Given the description of an element on the screen output the (x, y) to click on. 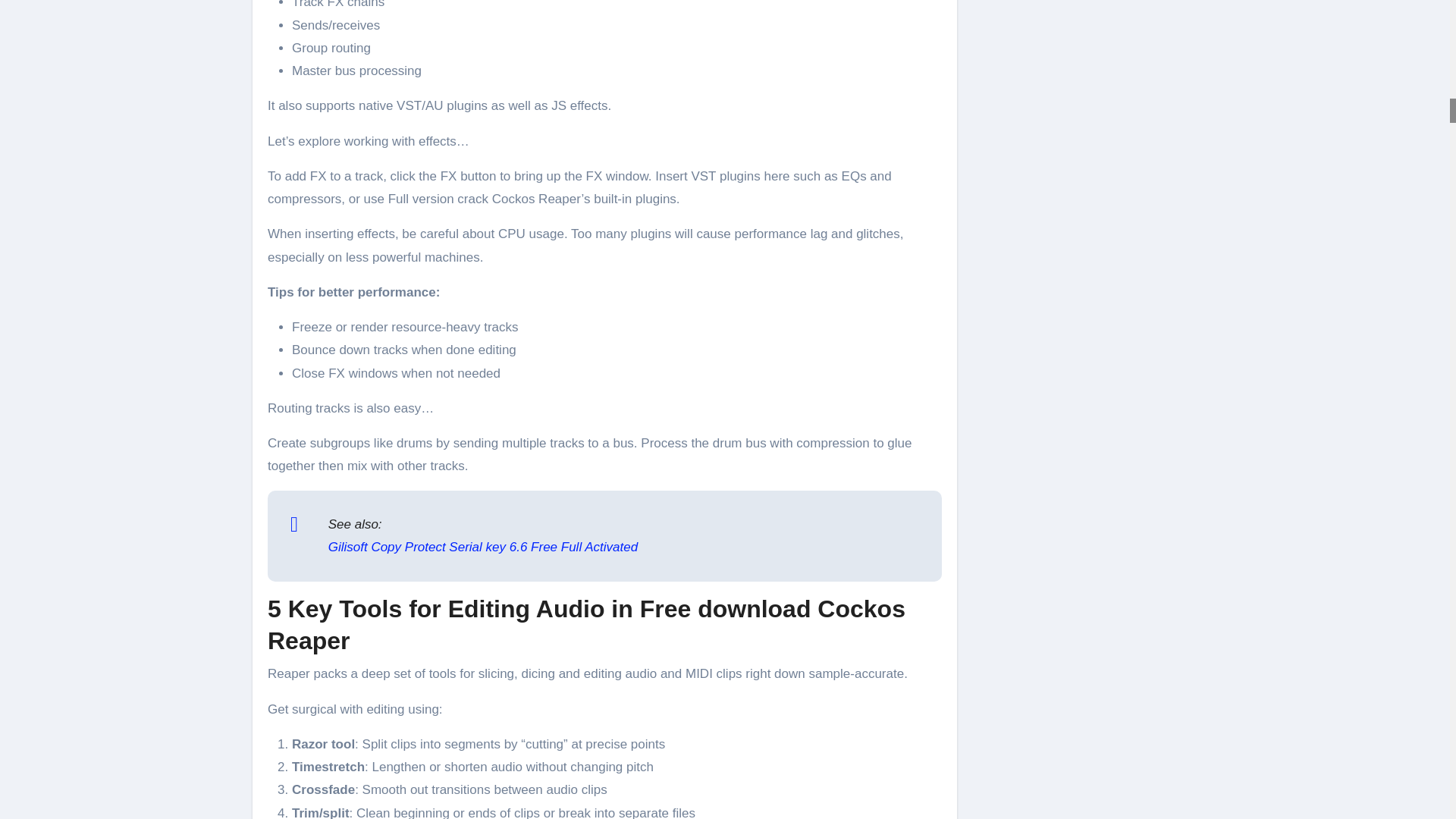
Gilisoft Copy Protect Serial key 6.6 Free Full Activated (483, 546)
